Given the description of an element on the screen output the (x, y) to click on. 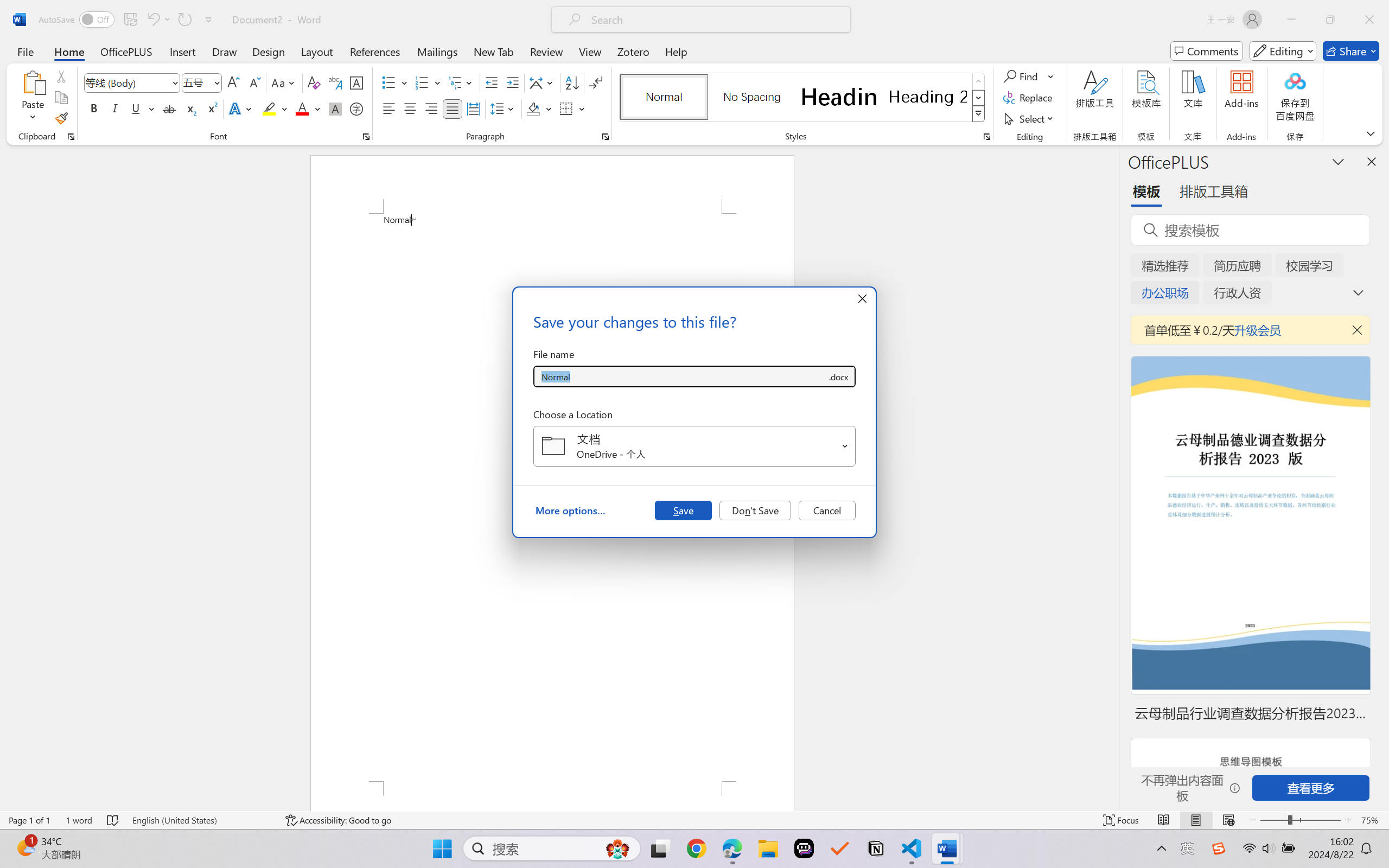
Font (126, 82)
Character Border (356, 82)
Center (409, 108)
Numbering (421, 82)
Zoom (1300, 819)
New Tab (493, 51)
Bold (94, 108)
References (375, 51)
Don't Save (755, 509)
Quick Access Toolbar (127, 19)
Class: Image (1218, 847)
